Given the description of an element on the screen output the (x, y) to click on. 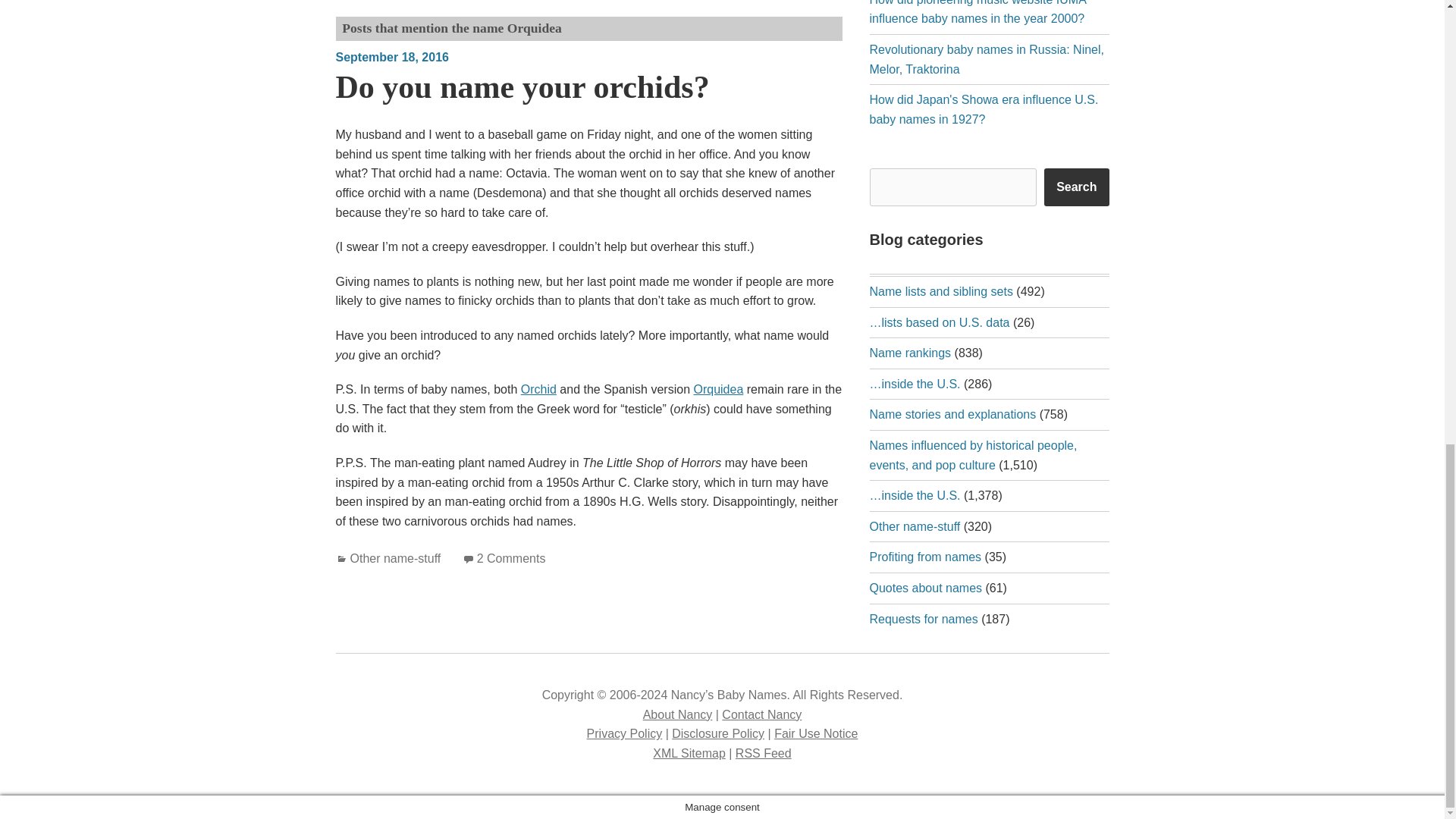
Revolutionary baby names in Russia: Ninel, Melor, Traktorina (986, 59)
2 Comments (511, 558)
How did Japan's Showa era influence U.S. baby names in 1927? (983, 109)
Other name-stuff (395, 558)
Name rankings (909, 352)
September 18, 2016 (391, 56)
Name lists and sibling sets (940, 291)
Name stories and explanations (952, 413)
Search (1075, 187)
Orchid (538, 389)
Do you name your orchids? (521, 86)
Orquidea (717, 389)
